Given the description of an element on the screen output the (x, y) to click on. 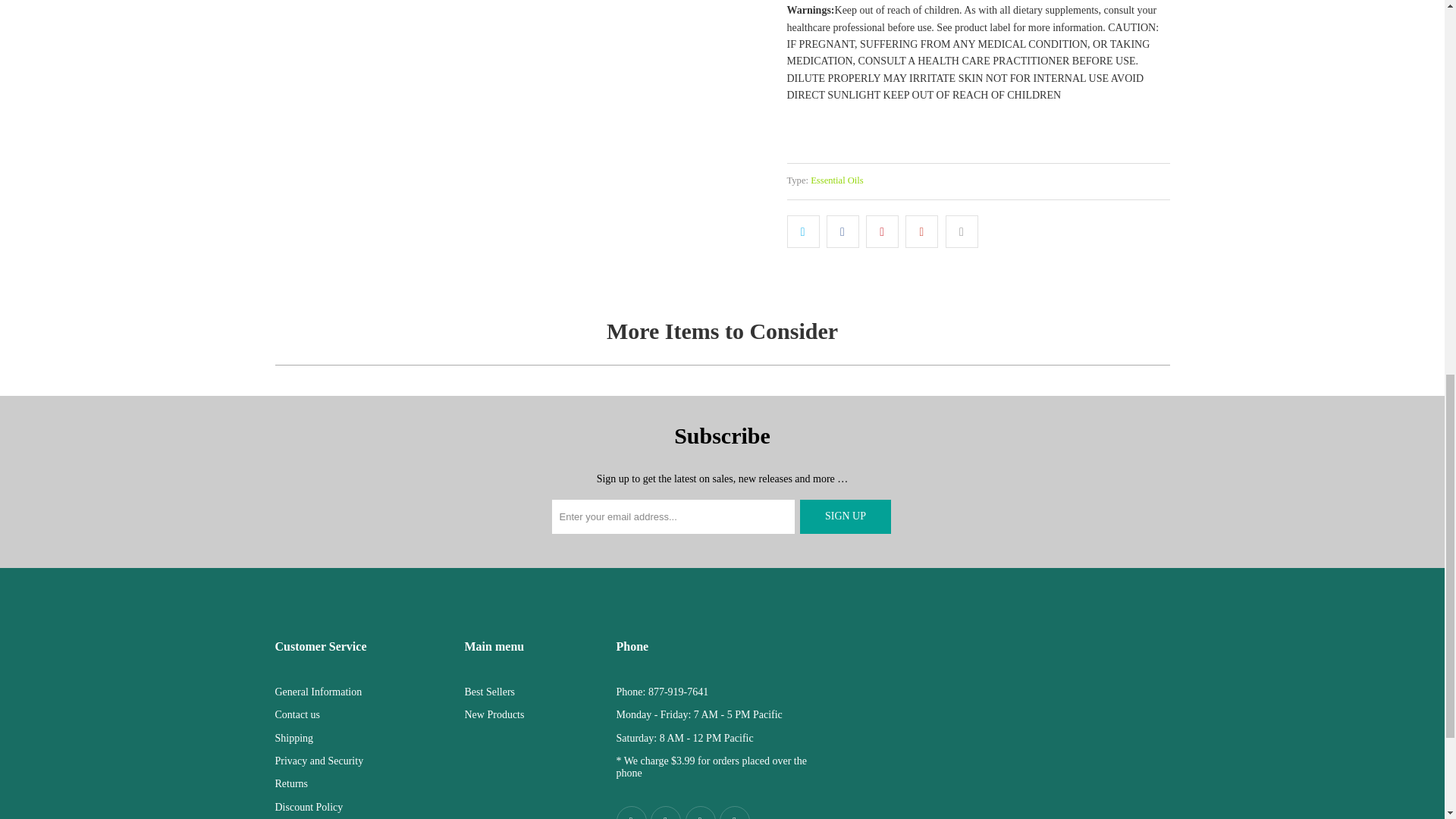
Essential Oils (836, 180)
Healthy Planet Shopping on YouTube (700, 812)
Share this on Pinterest (882, 231)
Share this on Facebook (843, 231)
Healthy Planet Shopping on Facebook (630, 812)
Healthy Planet Shopping on Twitter (665, 812)
tel:877-919-7641 (677, 691)
Email this to a friend (961, 231)
Share this on Twitter (803, 231)
Sign Up (845, 516)
Essential Oils (836, 180)
